Given the description of an element on the screen output the (x, y) to click on. 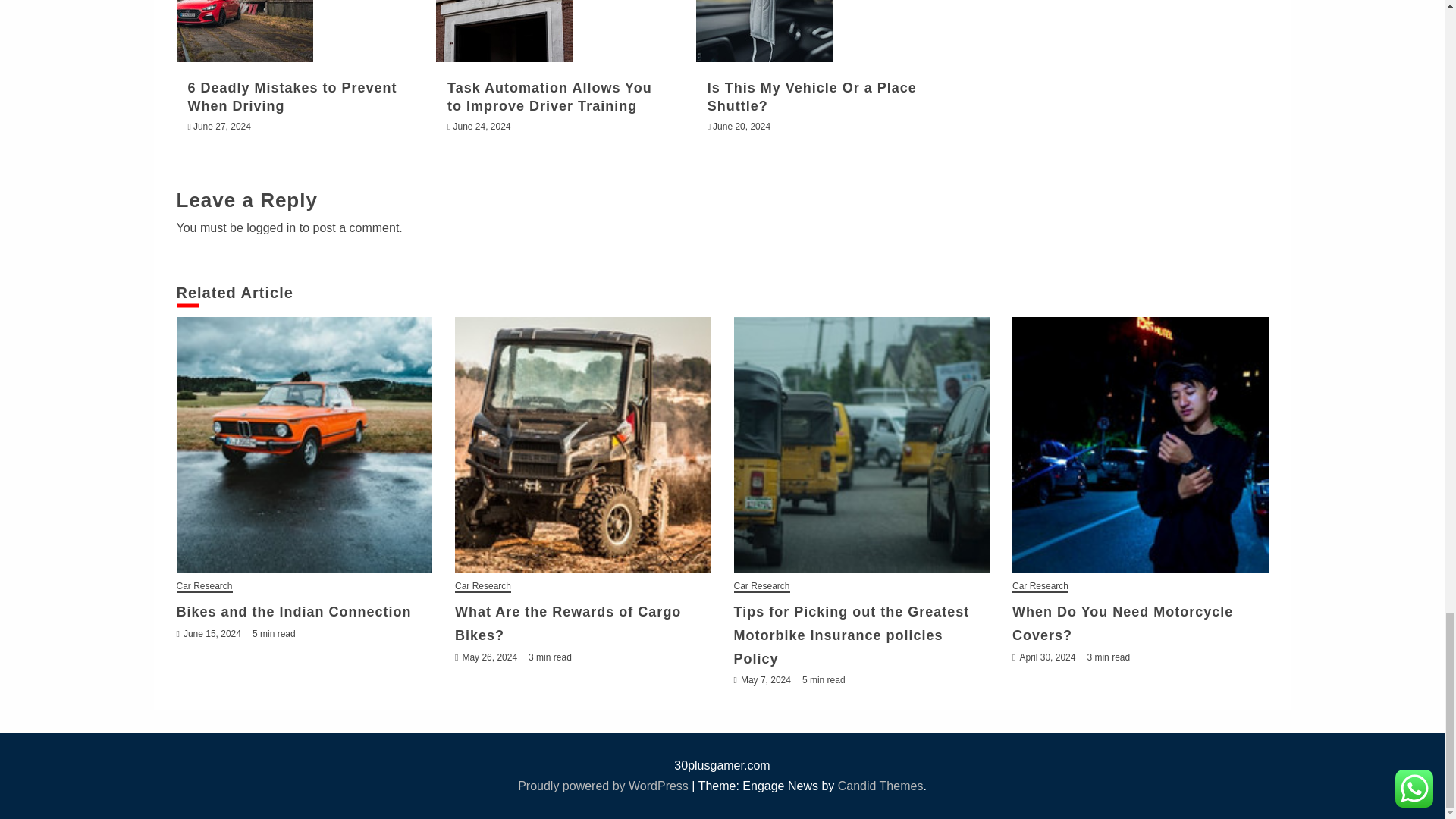
6 Deadly Mistakes to Prevent When Driving (292, 96)
Is This My Vehicle Or a Place Shuttle? (763, 31)
6 Deadly Mistakes to Prevent When Driving (244, 31)
Is This My Vehicle Or a Place Shuttle? (812, 96)
June 20, 2024 (741, 126)
June 24, 2024 (481, 126)
Task Automation Allows You to Improve Driver Training (503, 31)
Task Automation Allows You to Improve Driver Training (549, 96)
Bikes and the Indian Connection (304, 444)
June 27, 2024 (221, 126)
What Are the Rewards of Cargo Bikes? (582, 444)
